Given the description of an element on the screen output the (x, y) to click on. 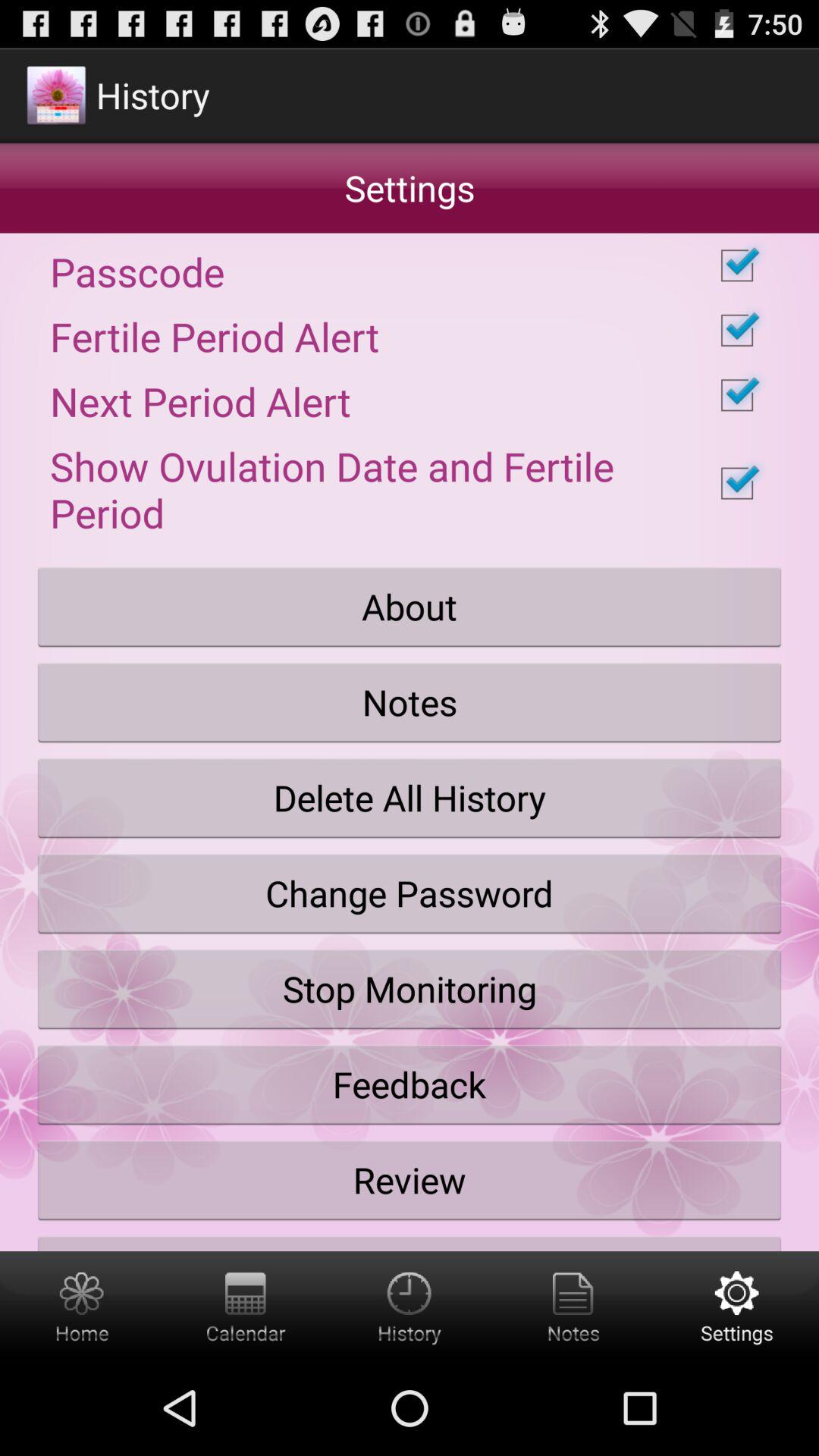
flip until show ovulation date icon (409, 483)
